Given the description of an element on the screen output the (x, y) to click on. 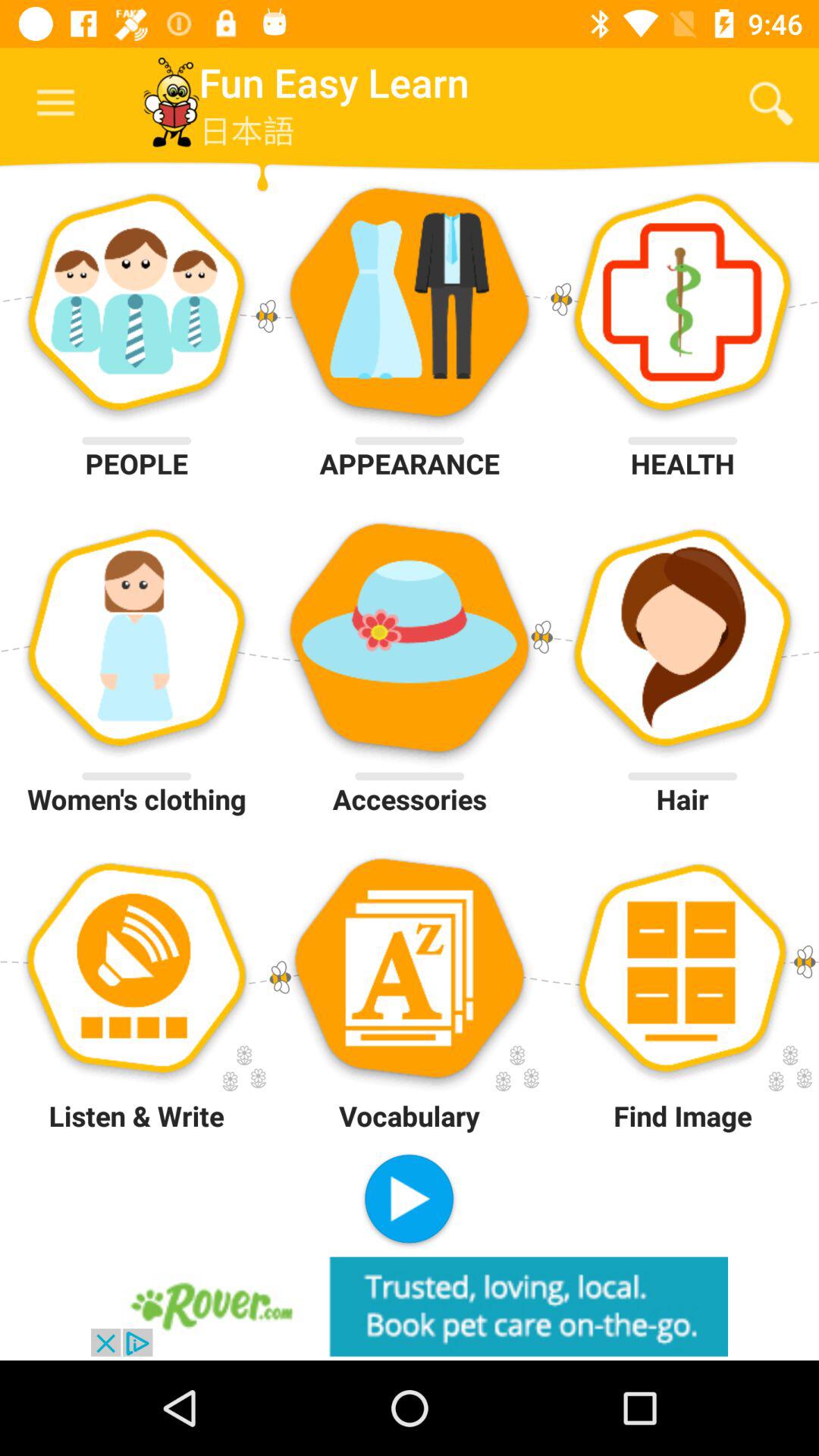
next page (408, 1200)
